Given the description of an element on the screen output the (x, y) to click on. 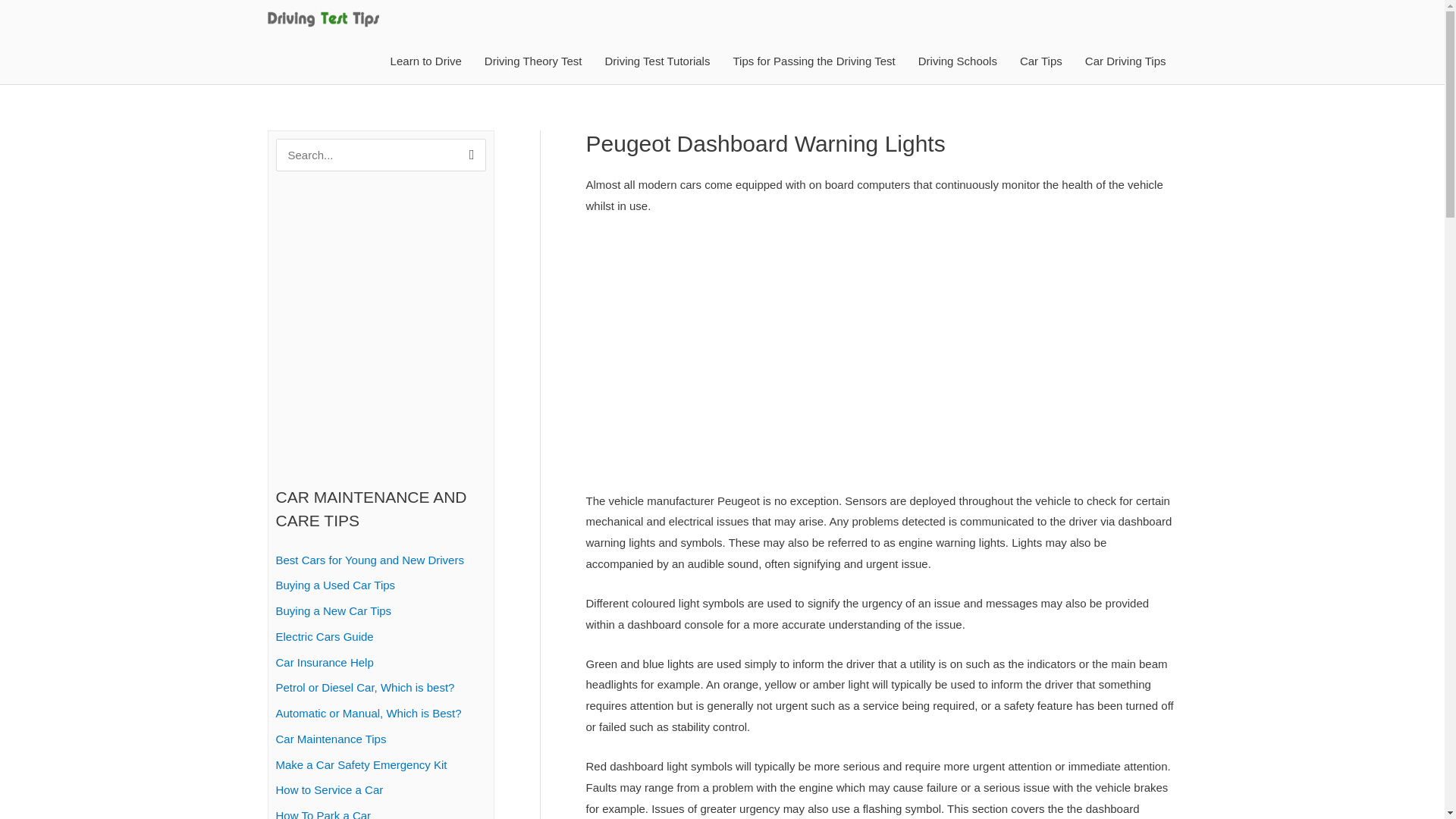
Car Driving Tips (1125, 60)
Tips for Passing the Driving Test (812, 60)
Driving Schools (958, 60)
Driving Theory Test (533, 60)
Petrol or Diesel Car, Which is best? (365, 686)
Buying a New Car Tips (333, 610)
Electric Cars Guide (325, 635)
Driving Test Tutorials (656, 60)
How to Service a Car (330, 789)
Car Maintenance Tips (331, 738)
